Given the description of an element on the screen output the (x, y) to click on. 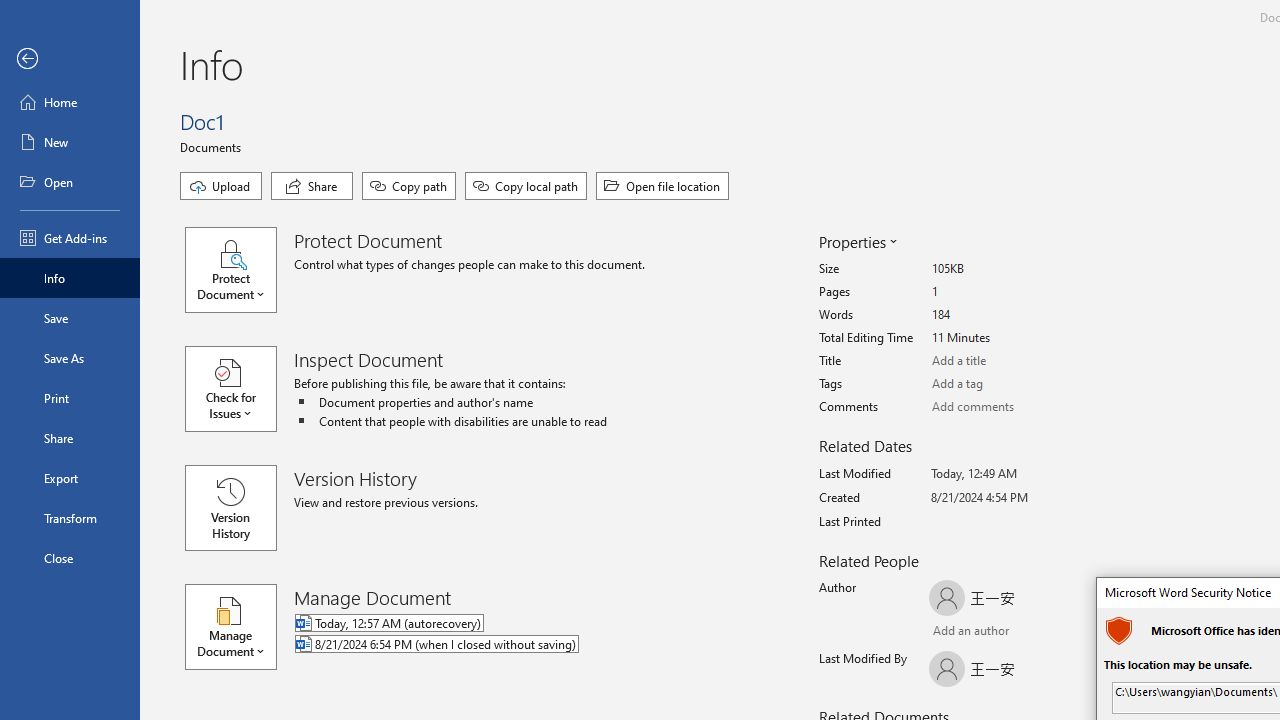
Save As (69, 357)
Tags (1006, 384)
Print (69, 398)
Info (69, 277)
Words (1006, 315)
Verify Names (983, 632)
New (69, 141)
Export (69, 477)
